Given the description of an element on the screen output the (x, y) to click on. 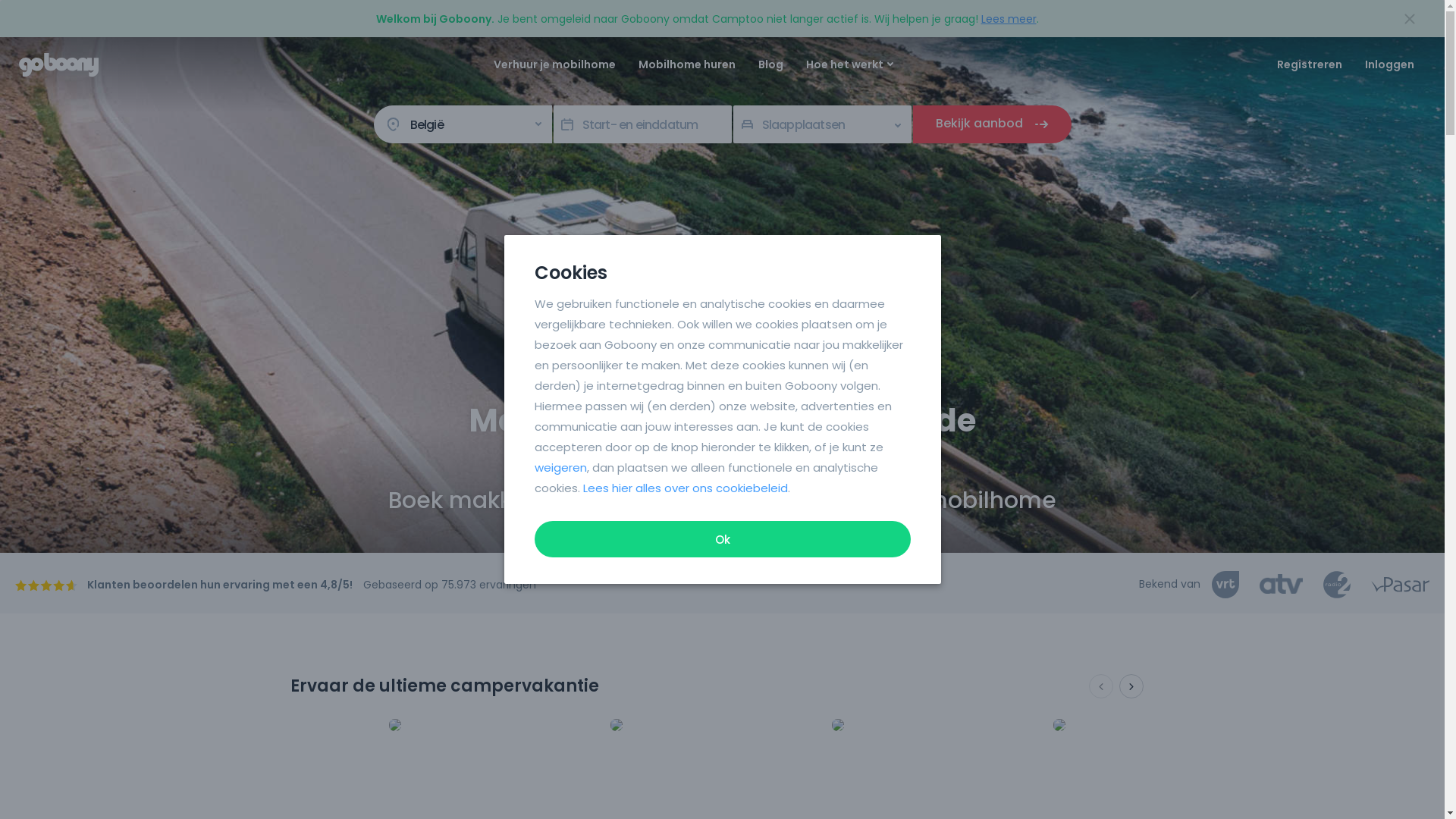
Ok Element type: text (721, 538)
Met je huisdier Element type: text (616, 724)
Blog Element type: text (769, 64)
Lees meer Element type: text (1008, 18)
Verhuur je mobilhome Element type: text (554, 64)
Registreren Element type: text (1309, 64)
Campers met onbeperkt aantal kilometers Element type: text (1058, 724)
Easy-to-drive motorhomes Element type: text (837, 724)
Hoe het werkt Element type: text (847, 64)
Mobilhome huren Element type: text (686, 64)
Volkswagen campers Element type: text (394, 724)
weigeren Element type: text (559, 467)
Camper huren bij Goboony camperverhuur Element type: text (60, 64)
Bekijk aanbod Element type: text (992, 123)
Inloggen Element type: text (1389, 64)
Lees hier alles over ons cookiebeleid Element type: text (684, 487)
